Given the description of an element on the screen output the (x, y) to click on. 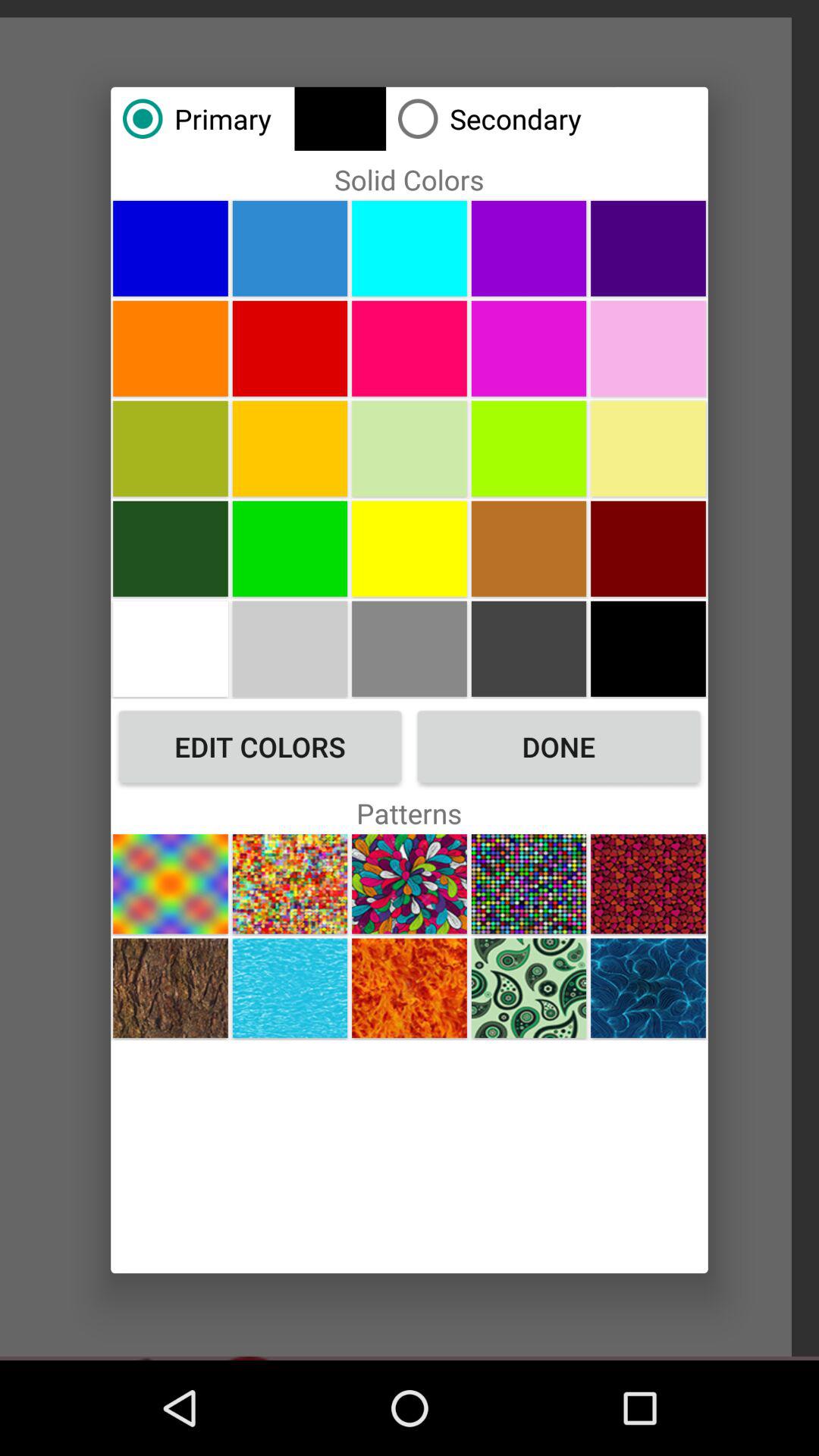
choose fourth pattern (528, 883)
